Given the description of an element on the screen output the (x, y) to click on. 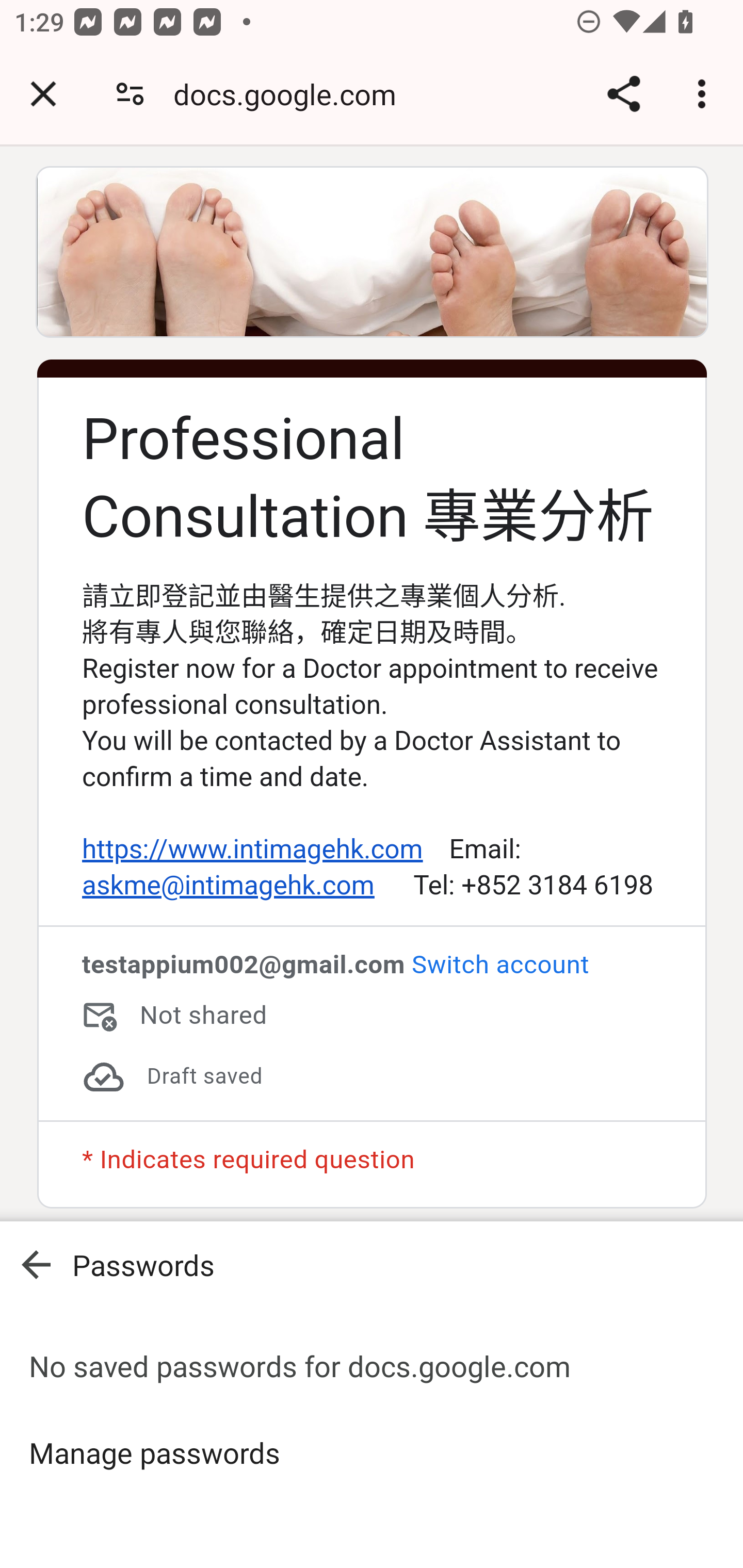
Close tab (43, 93)
Share (623, 93)
Customize and control Google Chrome (705, 93)
Connection is secure (129, 93)
docs.google.com (291, 93)
https://www.intimagehk.com (252, 849)
askme@intimagehk.com (227, 885)
Switch account (499, 965)
Show keyboard Passwords (371, 1264)
Show keyboard (36, 1264)
Manage passwords (371, 1452)
